Given the description of an element on the screen output the (x, y) to click on. 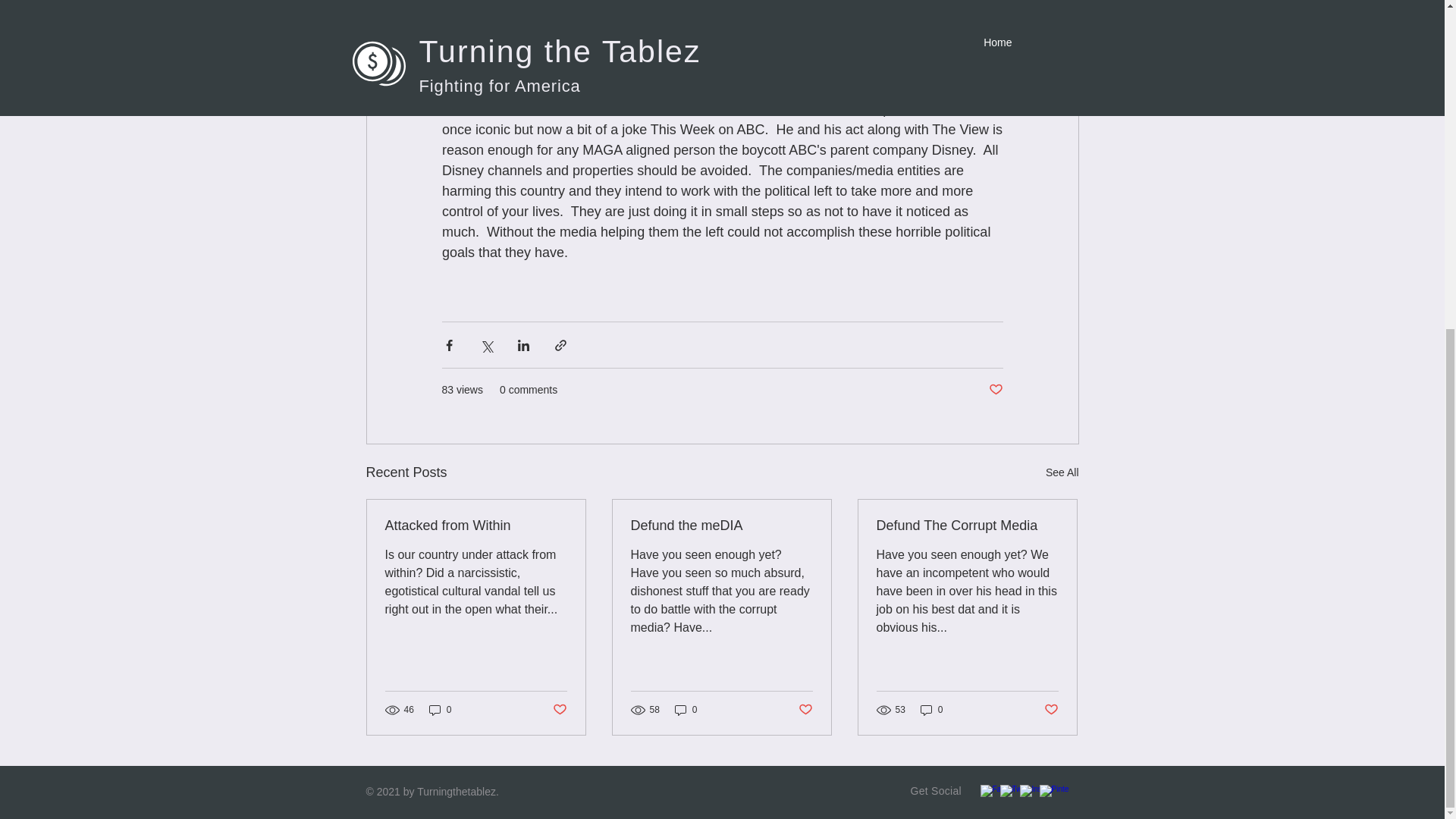
Post not marked as liked (1050, 709)
0 (440, 709)
Defund the meDIA (721, 525)
See All (1061, 472)
0 (931, 709)
Attacked from Within (476, 525)
Post not marked as liked (558, 709)
Post not marked as liked (995, 390)
0 (685, 709)
Defund The Corrupt Media (967, 525)
